Given the description of an element on the screen output the (x, y) to click on. 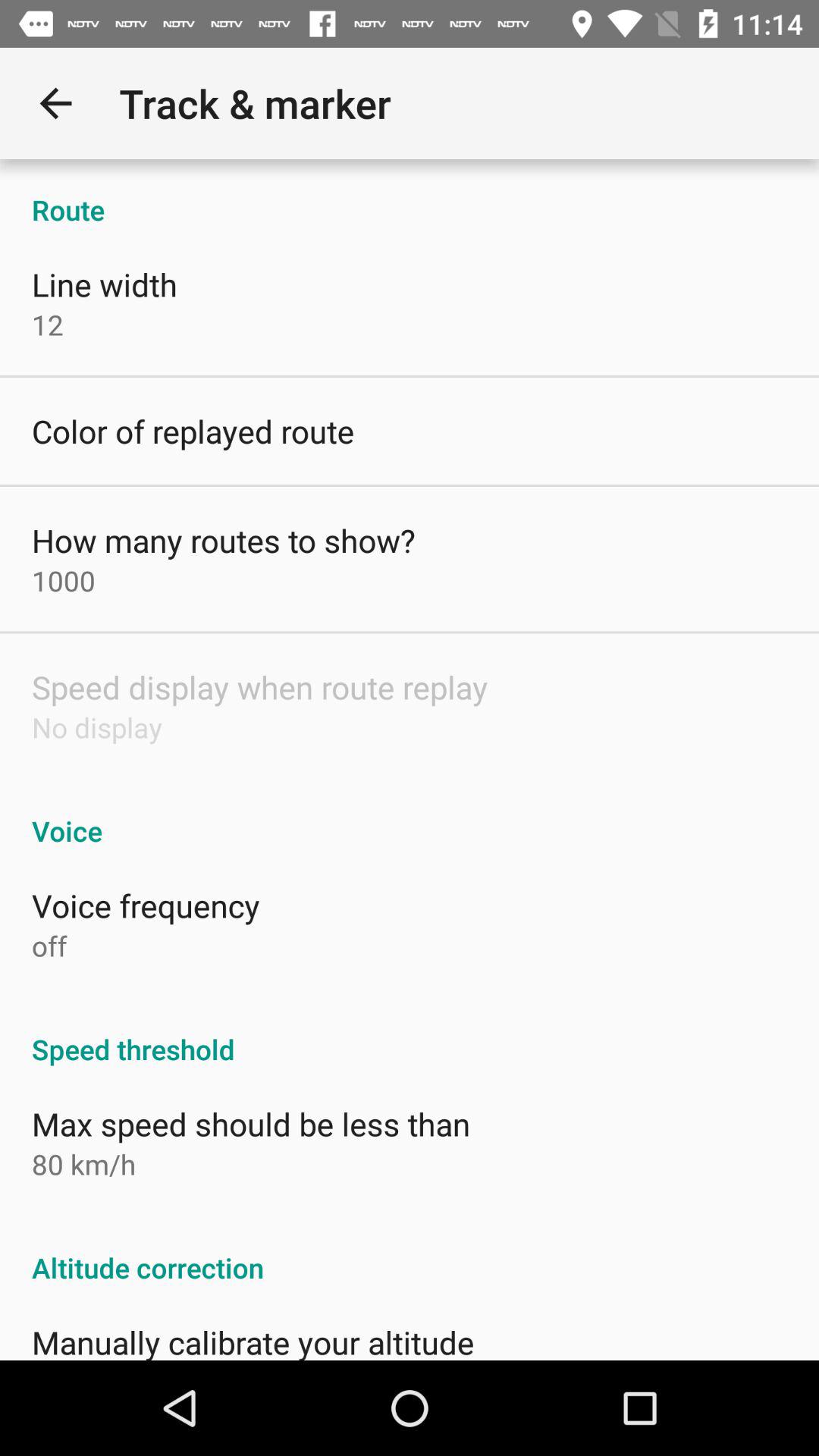
open the item above the max speed should icon (409, 1033)
